Given the description of an element on the screen output the (x, y) to click on. 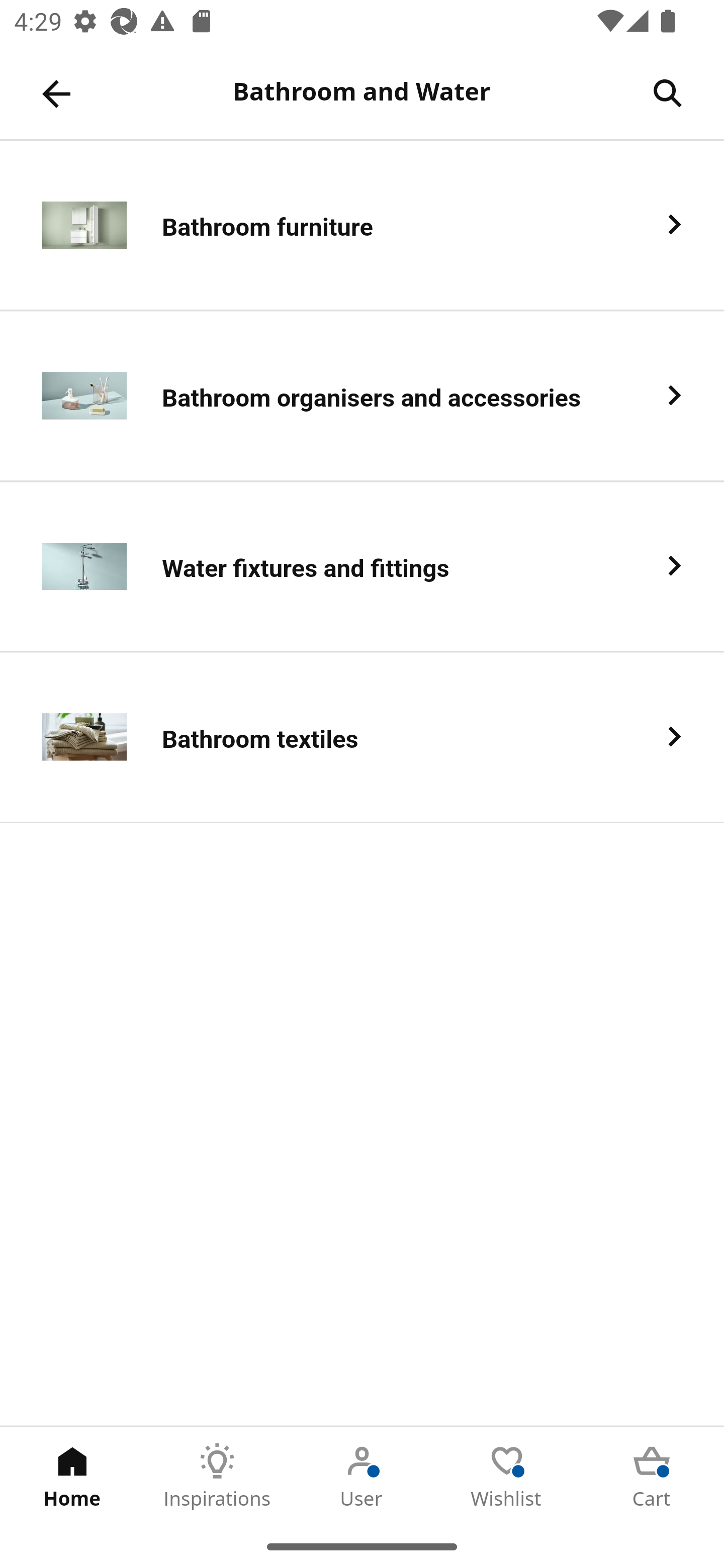
Bathroom furniture (362, 226)
Bathroom organisers and accessories (362, 396)
Water fixtures and fittings (362, 566)
Bathroom textiles (362, 737)
Home
Tab 1 of 5 (72, 1476)
Inspirations
Tab 2 of 5 (216, 1476)
User
Tab 3 of 5 (361, 1476)
Wishlist
Tab 4 of 5 (506, 1476)
Cart
Tab 5 of 5 (651, 1476)
